Given the description of an element on the screen output the (x, y) to click on. 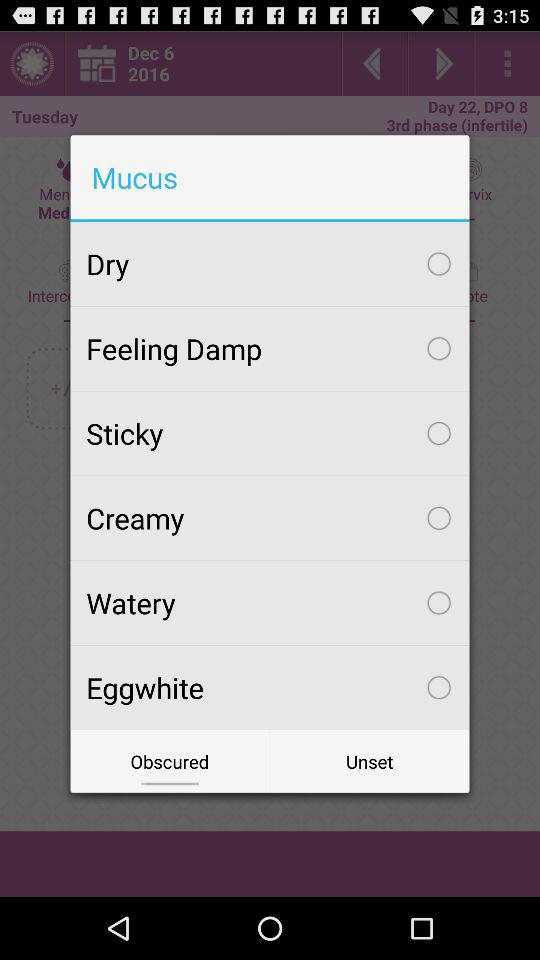
choose the icon below the feeling damp item (269, 433)
